Given the description of an element on the screen output the (x, y) to click on. 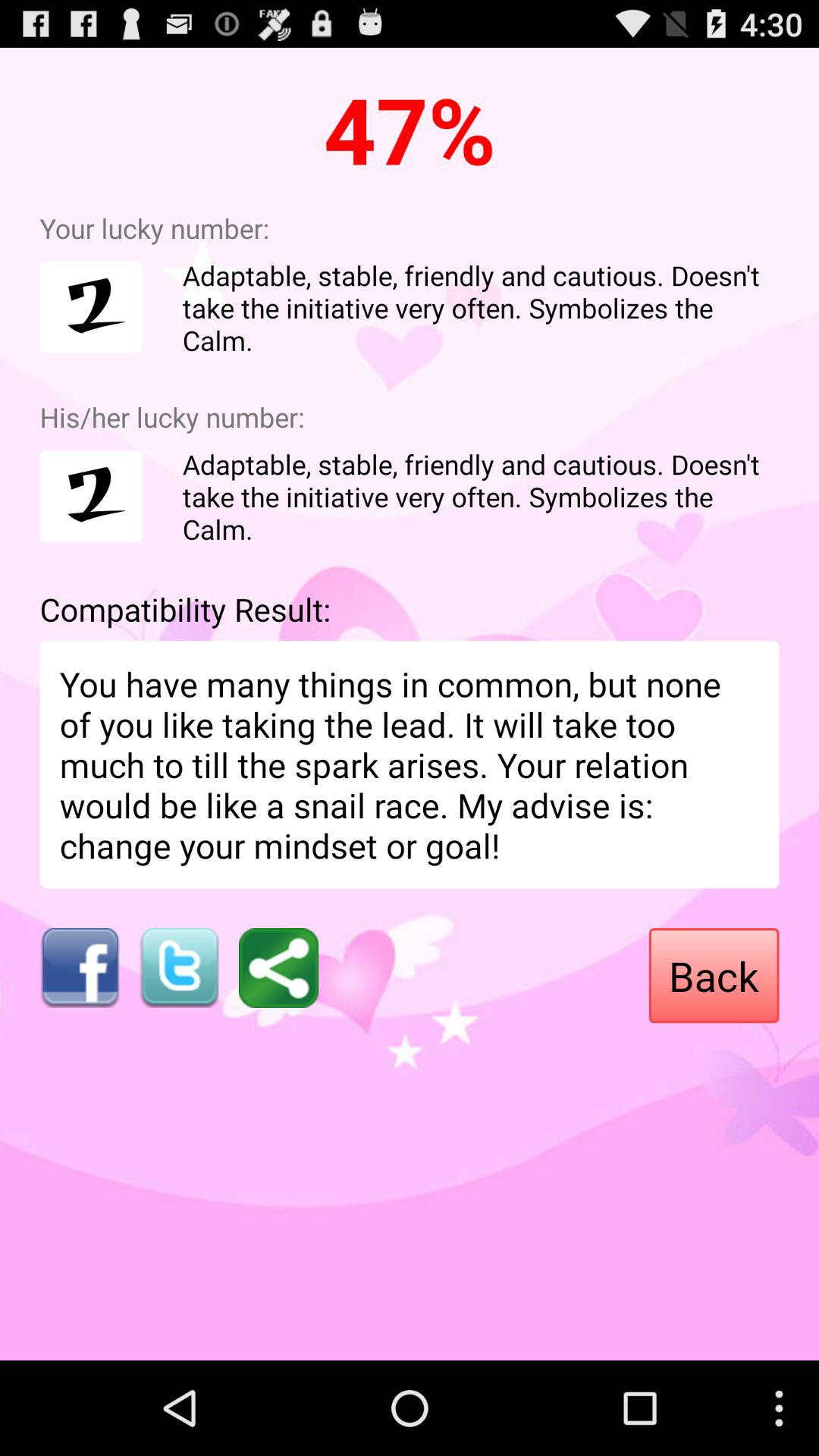
open twitter (178, 967)
